Given the description of an element on the screen output the (x, y) to click on. 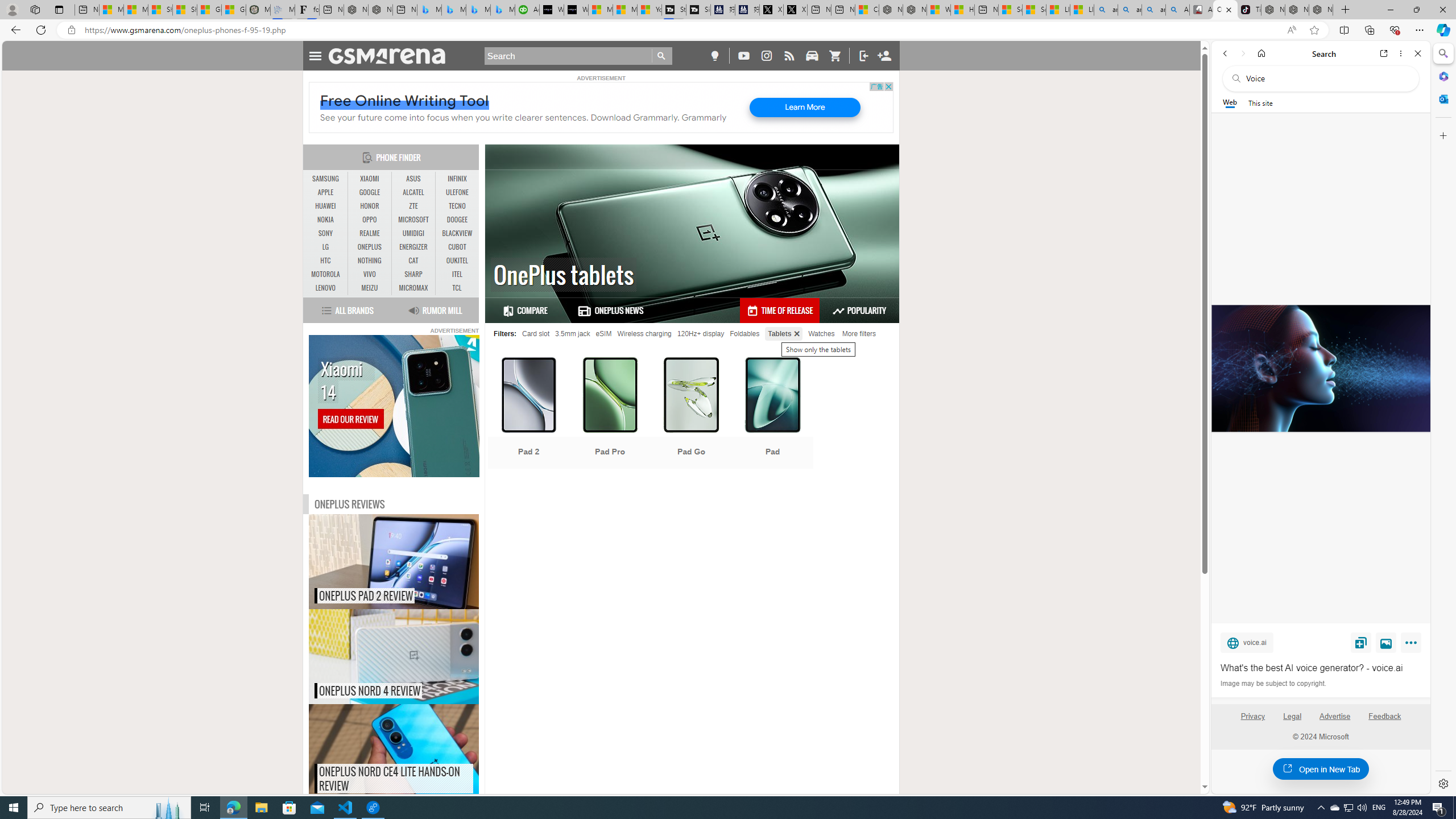
eSIM (603, 333)
ASUS (413, 178)
Nordace Siena Pro 15 Backpack (1296, 9)
Open in New Tab (1321, 768)
OnePlus Nord 4 review (417, 656)
ALCATEL (413, 192)
Accounting Software for Accountants, CPAs and Bookkeepers (526, 9)
View image (1385, 642)
